Given the description of an element on the screen output the (x, y) to click on. 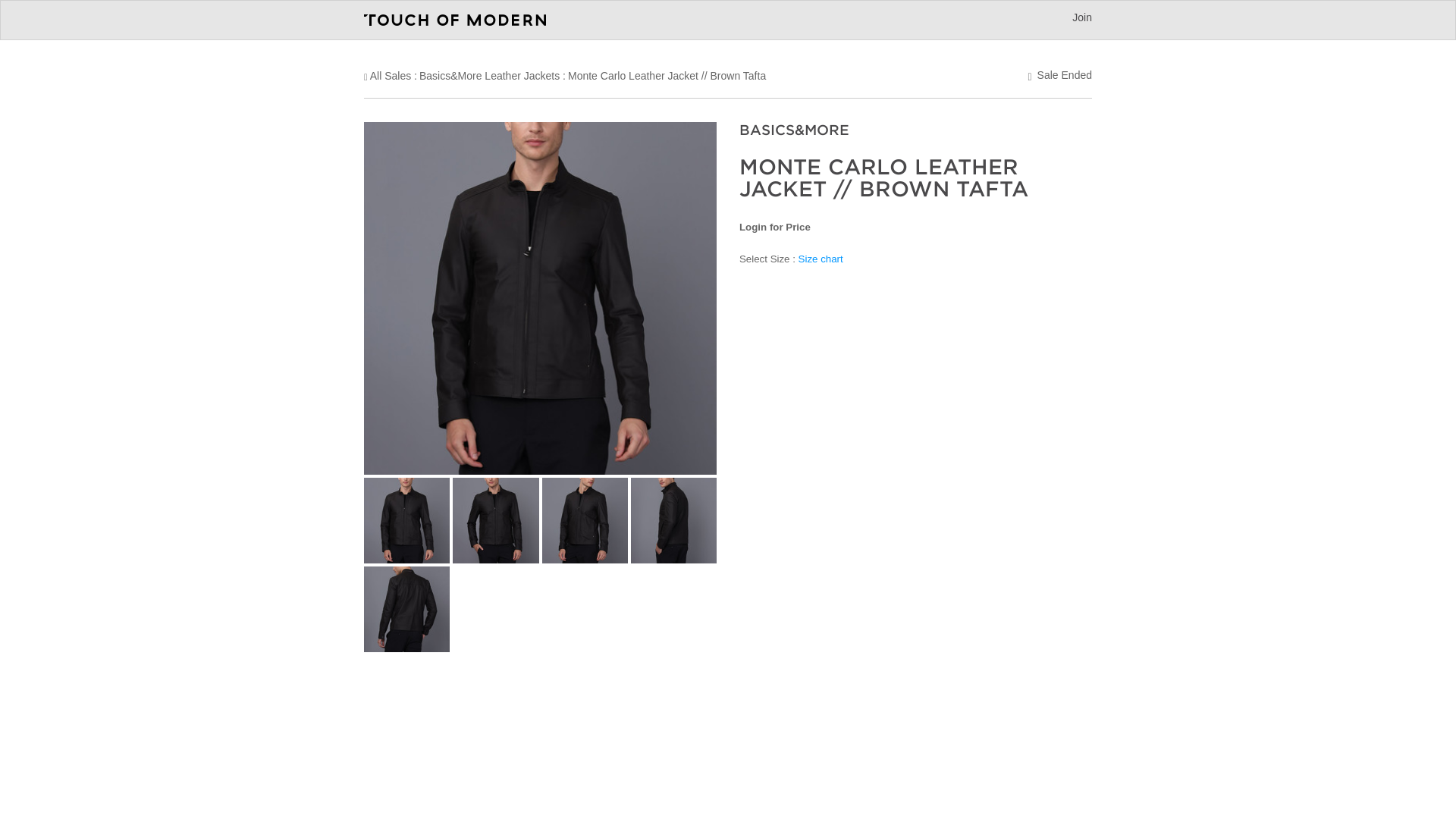
Size chart (820, 258)
All Sales (389, 75)
Join (1081, 17)
All Sales (389, 75)
